Given the description of an element on the screen output the (x, y) to click on. 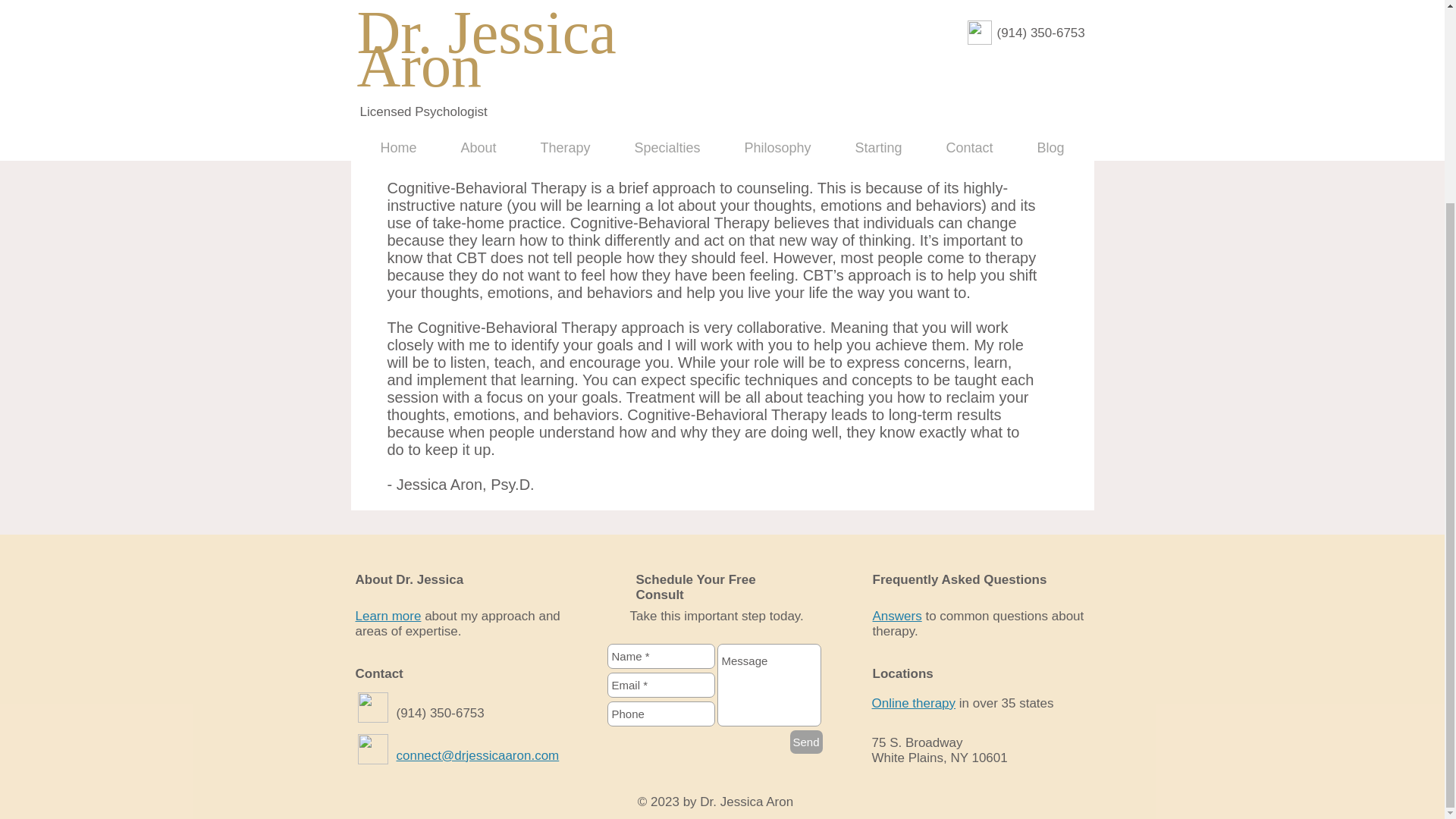
Learn more (387, 616)
Send (806, 741)
Online therapy (914, 703)
Answers (896, 616)
